Given the description of an element on the screen output the (x, y) to click on. 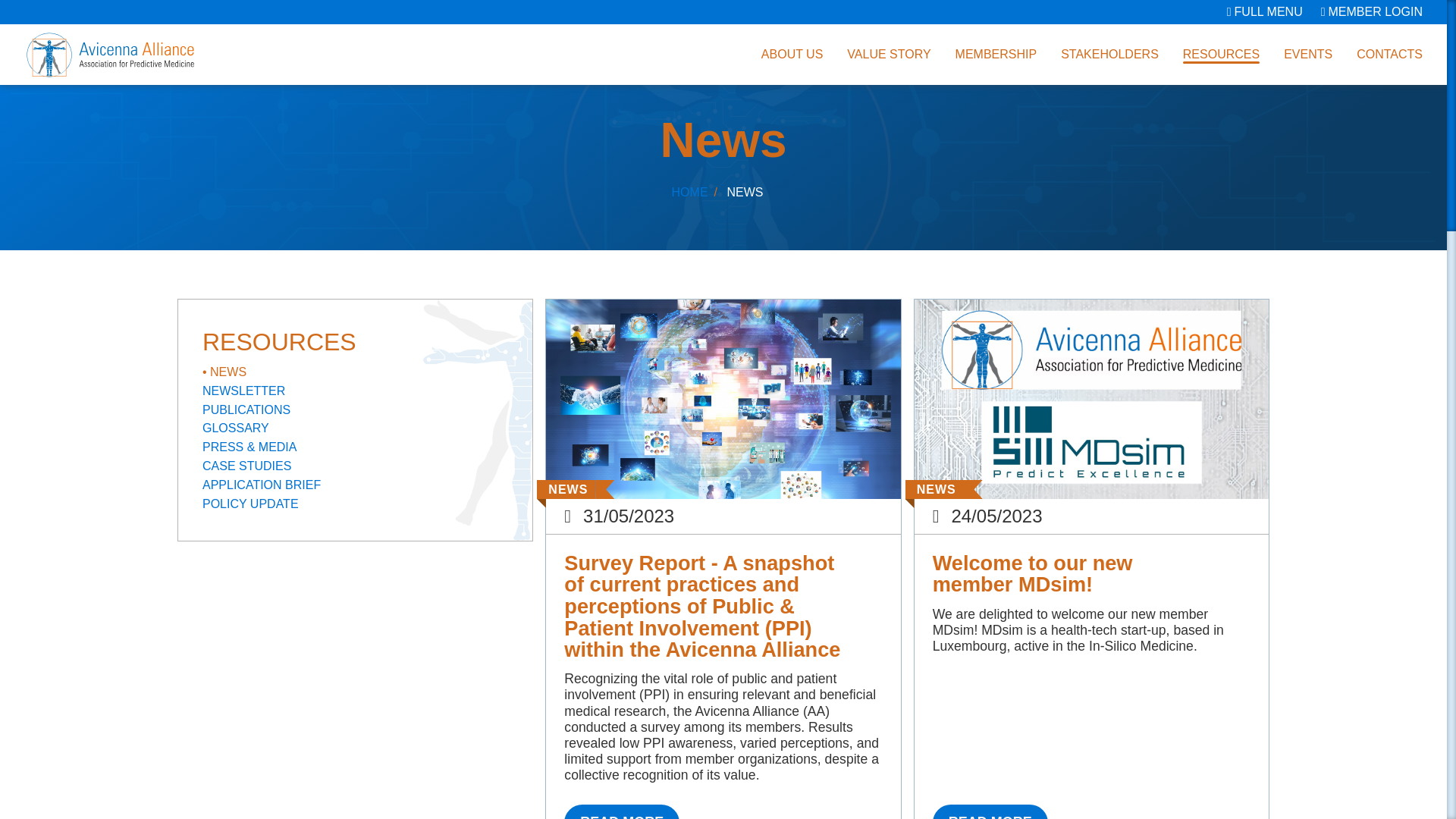
NEWSLETTER (355, 390)
HOME (689, 192)
CONTACTS (1389, 54)
ABOUT US (792, 54)
VALUE STORY (888, 54)
STAKEHOLDERS (1109, 54)
EVENTS (1308, 54)
MEMBERSHIP (995, 54)
Welcome to our new member MDsim! (990, 811)
RESOURCES (1220, 54)
PUBLICATIONS (355, 410)
